Given the description of an element on the screen output the (x, y) to click on. 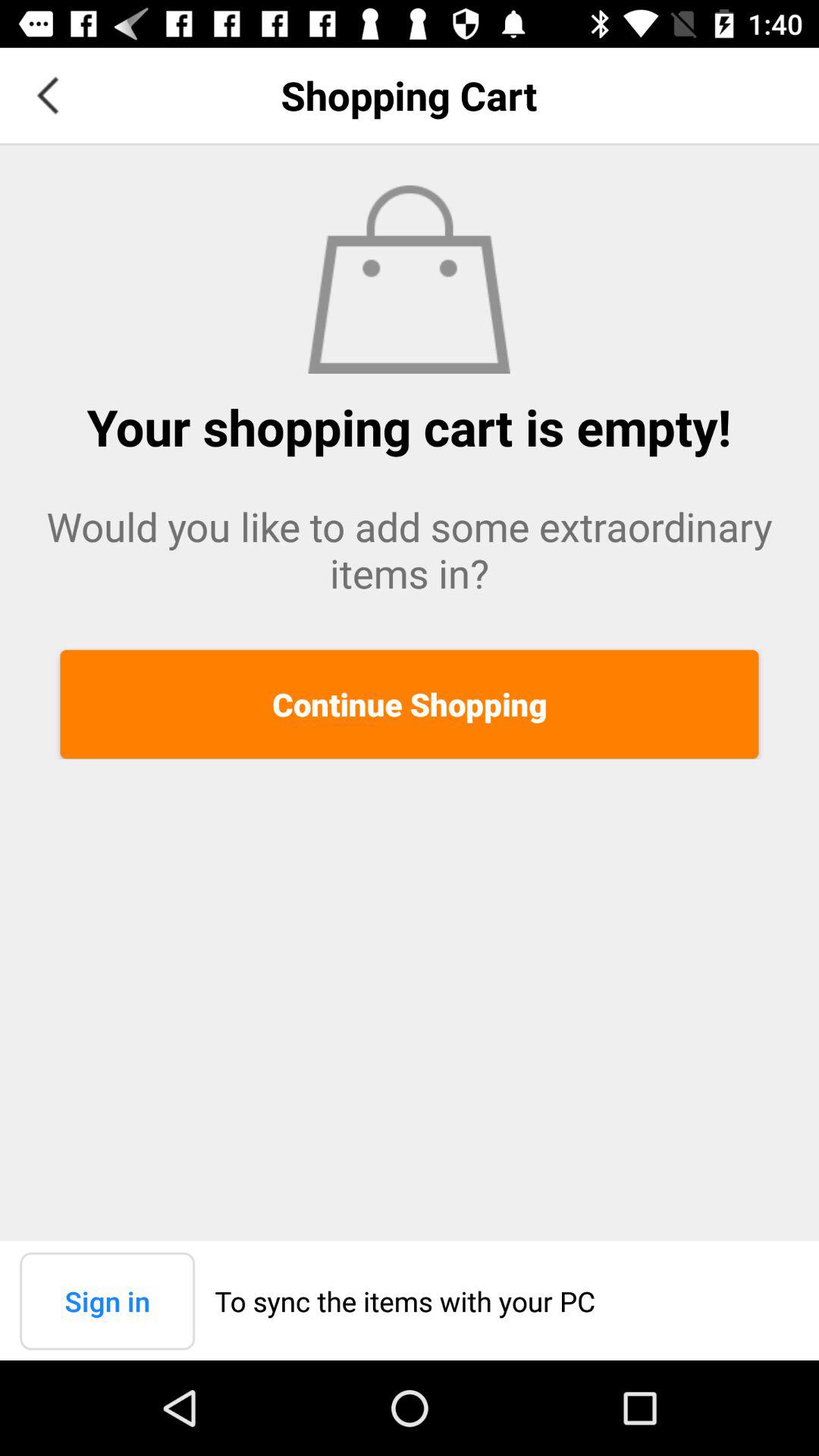
go back (47, 95)
